Given the description of an element on the screen output the (x, y) to click on. 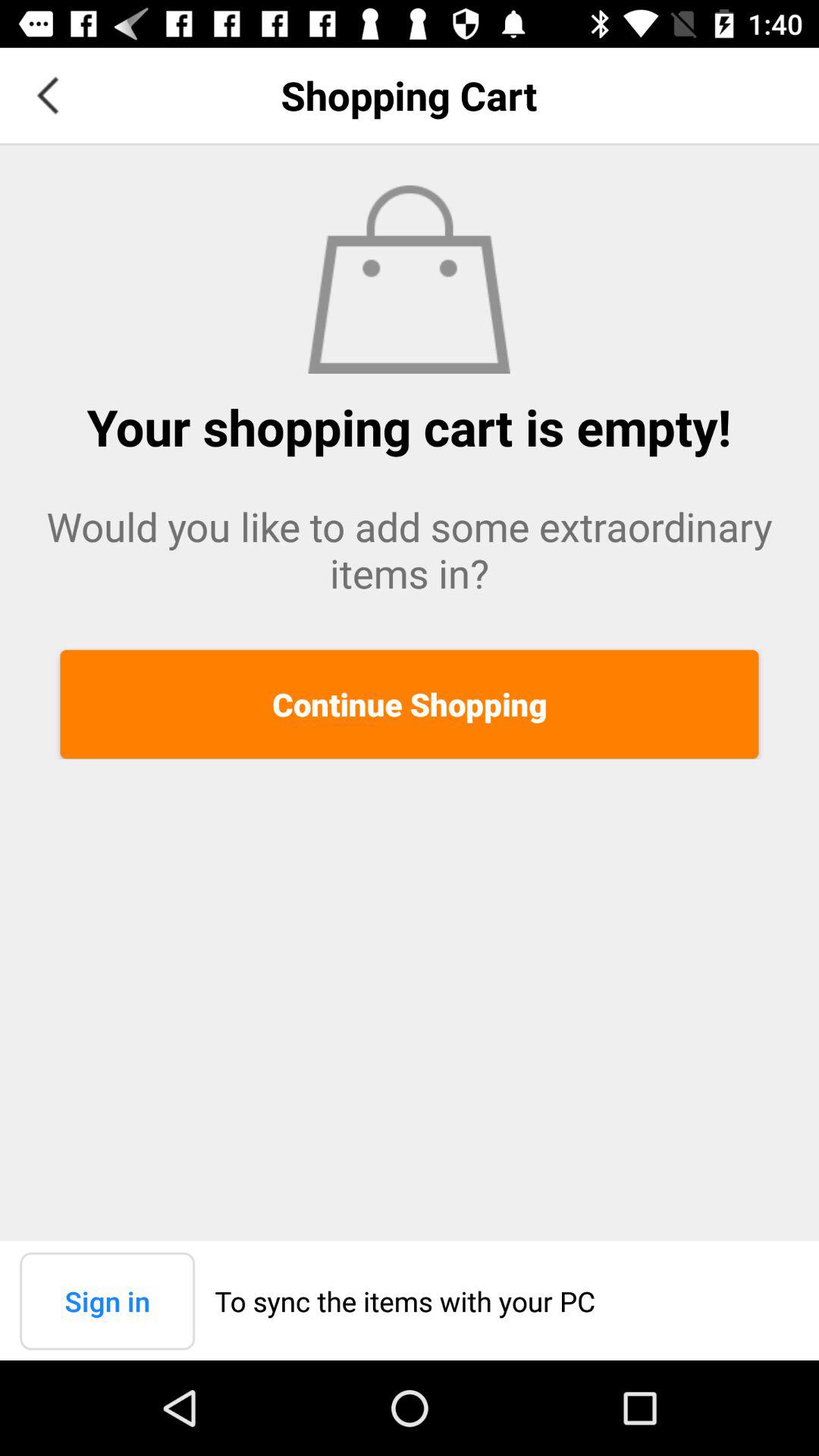
go back (47, 95)
